Given the description of an element on the screen output the (x, y) to click on. 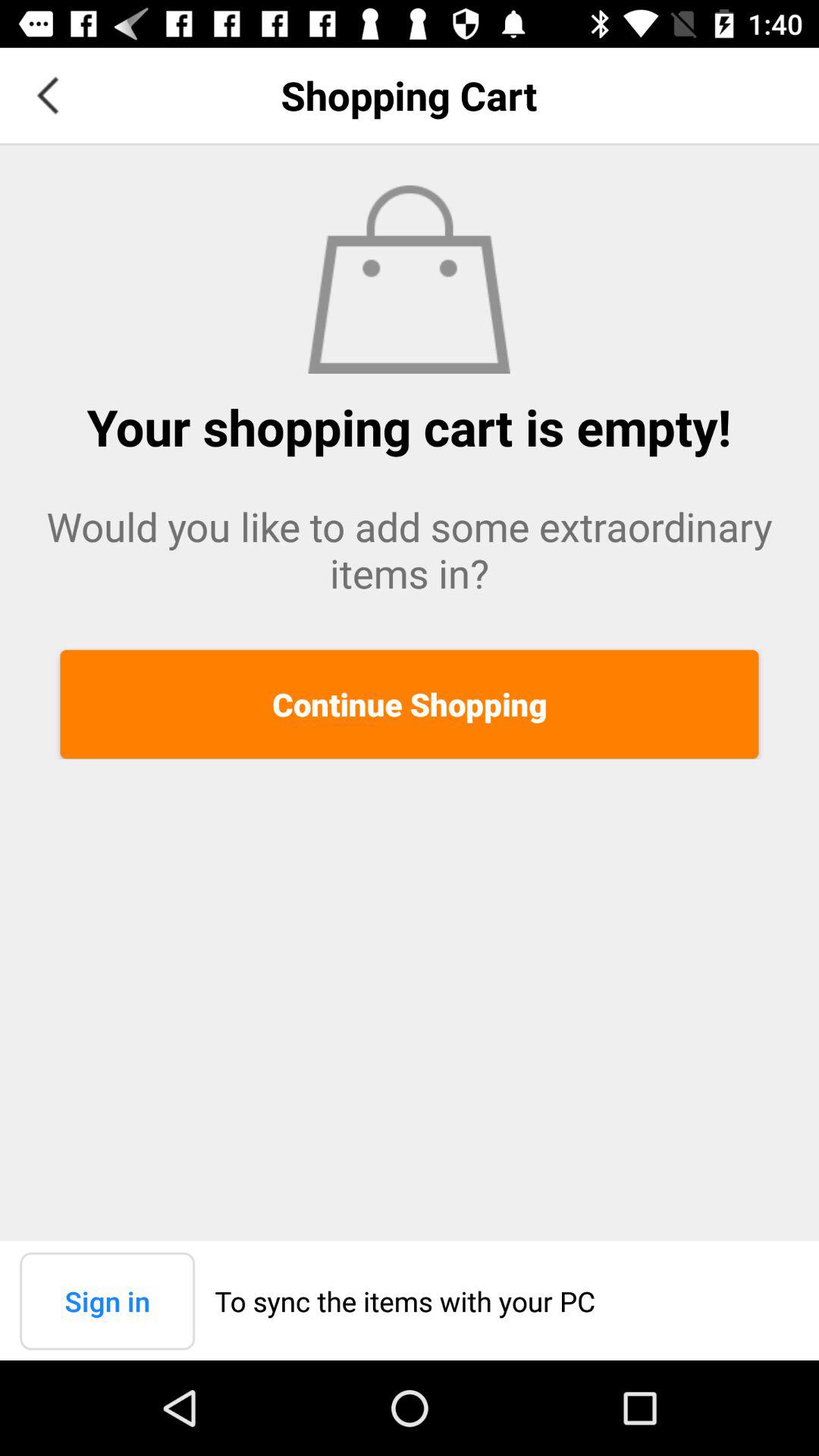
go back (47, 95)
